Given the description of an element on the screen output the (x, y) to click on. 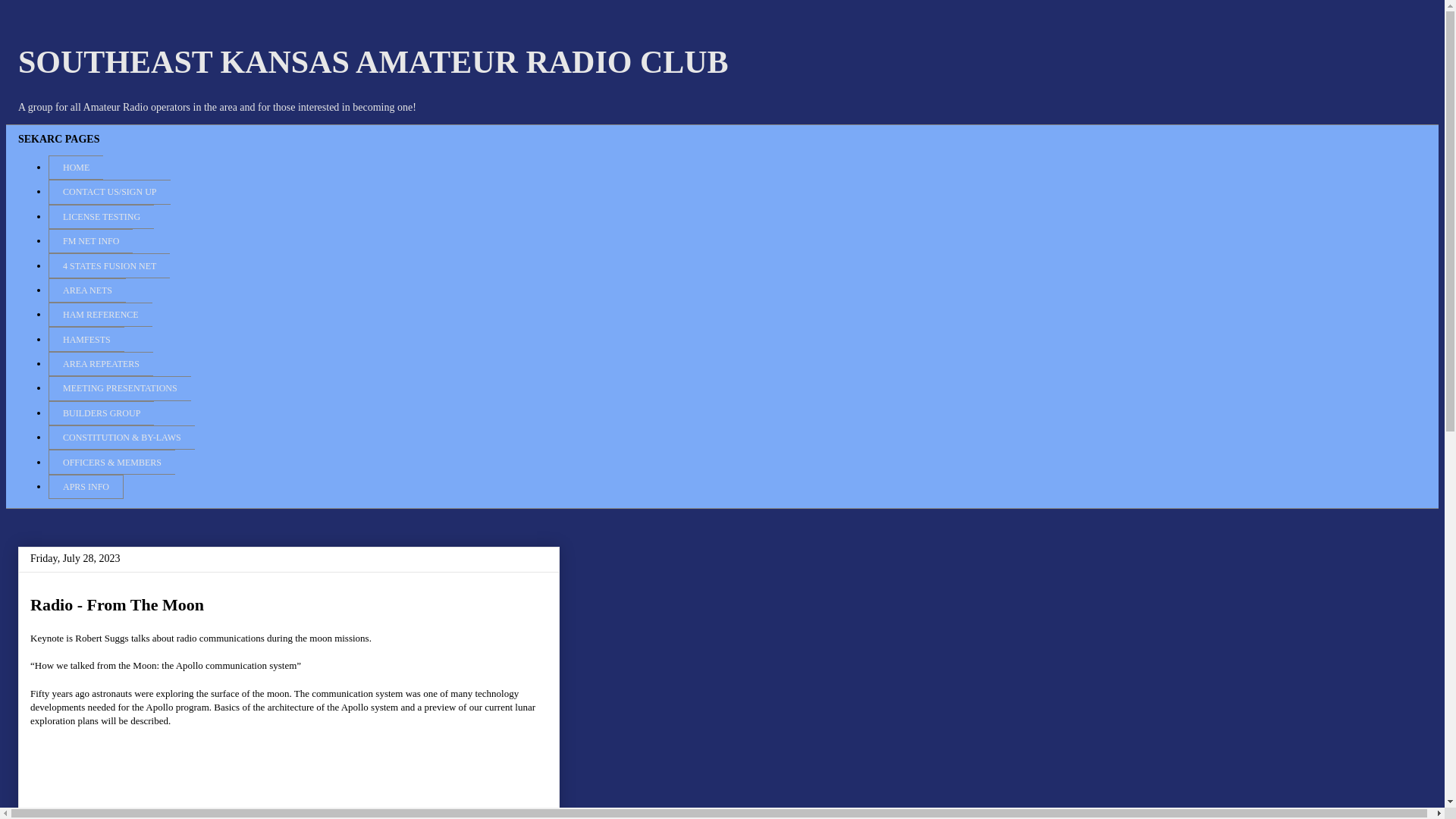
LICENSE TESTING (101, 216)
4 STATES FUSION NET (109, 265)
APRS INFO (85, 486)
SOUTHEAST KANSAS AMATEUR RADIO CLUB (373, 62)
HOME (75, 167)
HAM REFERENCE (100, 314)
YouTube video player (288, 790)
BUILDERS GROUP (101, 413)
MEETING PRESENTATIONS (119, 387)
AREA NETS (86, 290)
